Given the description of an element on the screen output the (x, y) to click on. 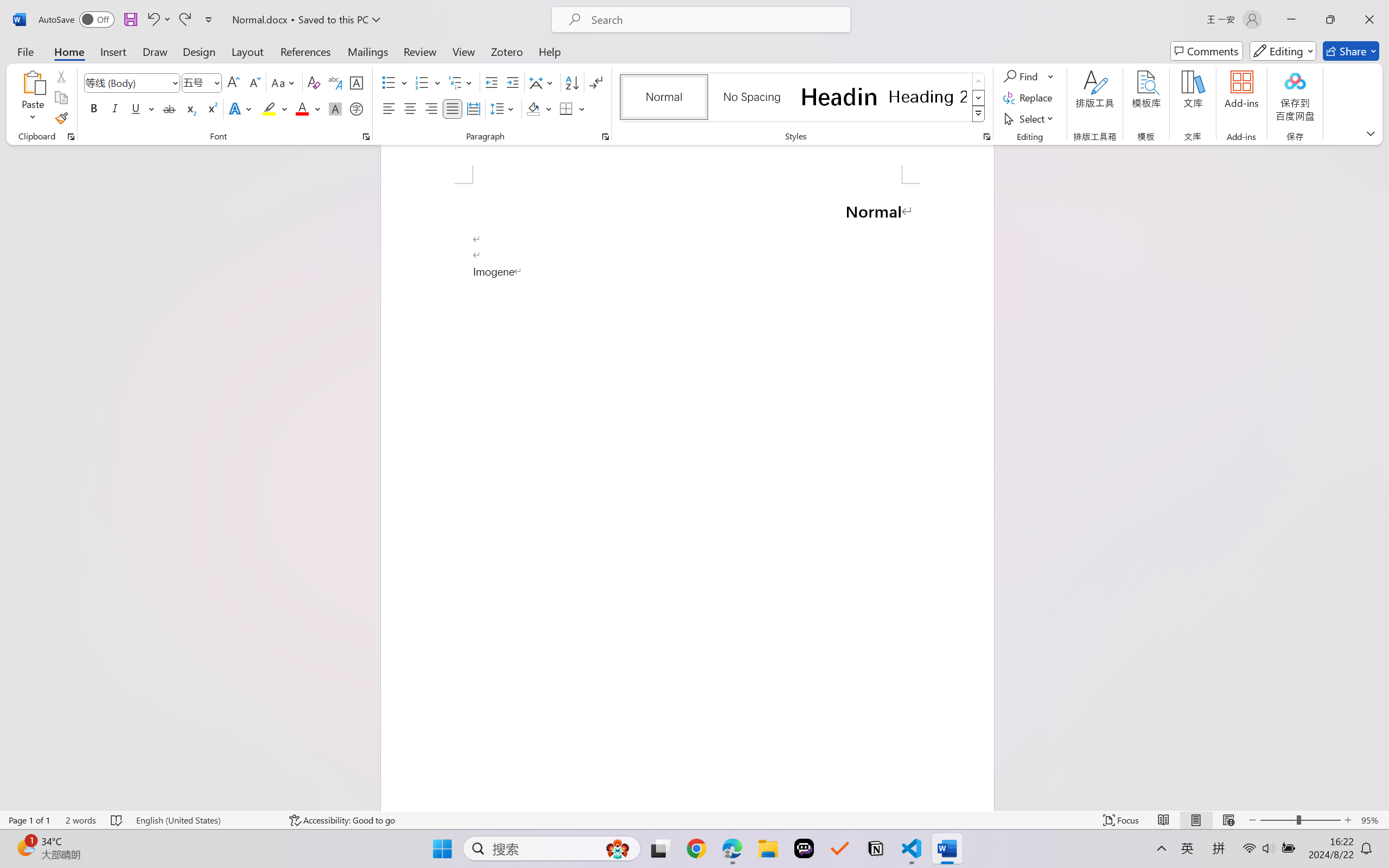
Show/Hide Editing Marks (595, 82)
Zoom 95% (1372, 819)
Row up (978, 81)
Class: NetUIScrollBar (1382, 477)
Text Highlight Color Yellow (269, 108)
Character Border (356, 82)
